Given the description of an element on the screen output the (x, y) to click on. 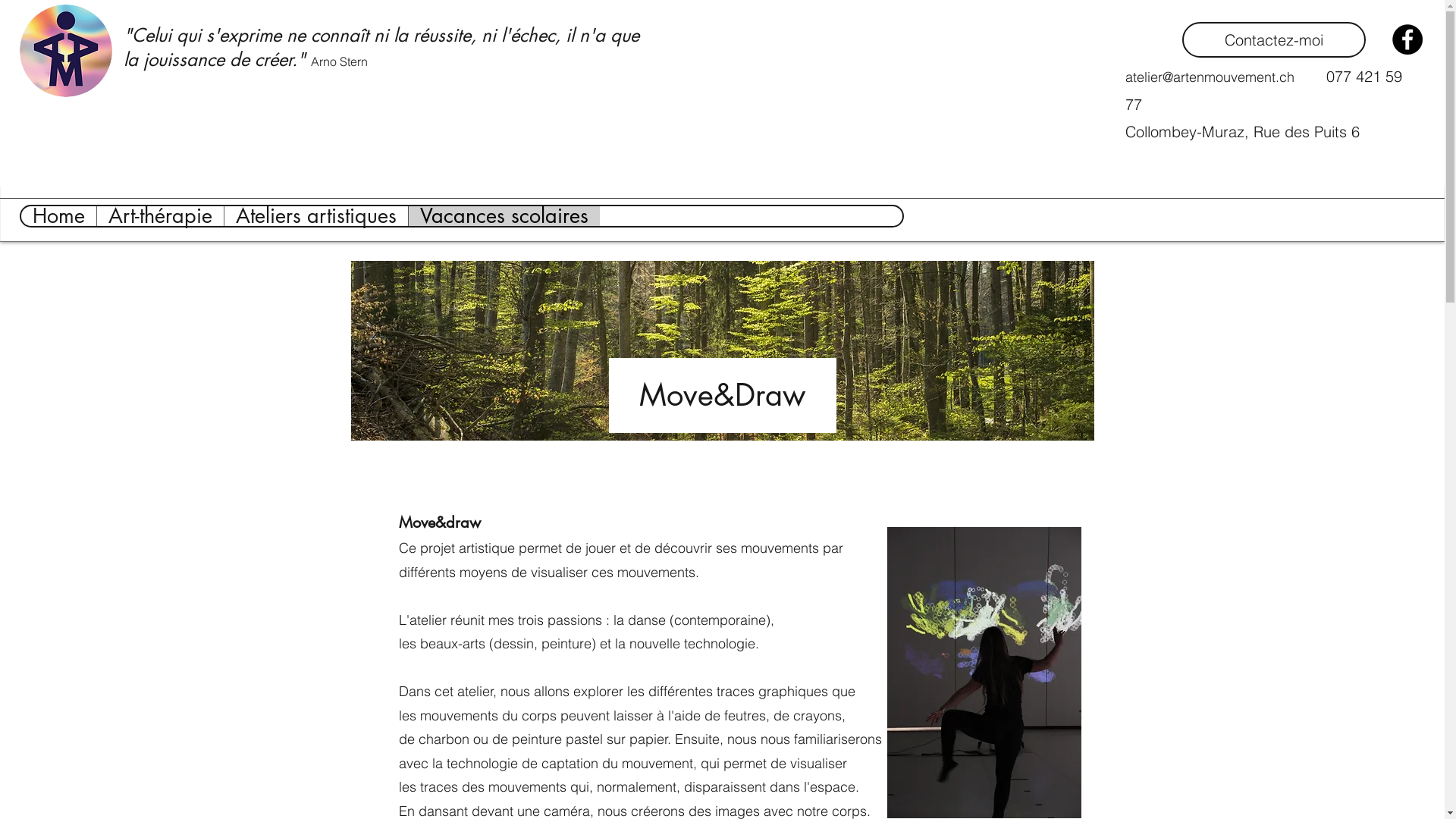
Home Element type: text (58, 215)
atelier@artenmouvement.ch Element type: text (1209, 76)
Contactez-moi Element type: text (1273, 39)
Ateliers artistiques Element type: text (315, 215)
Vacances scolaires Element type: text (503, 215)
